Given the description of an element on the screen output the (x, y) to click on. 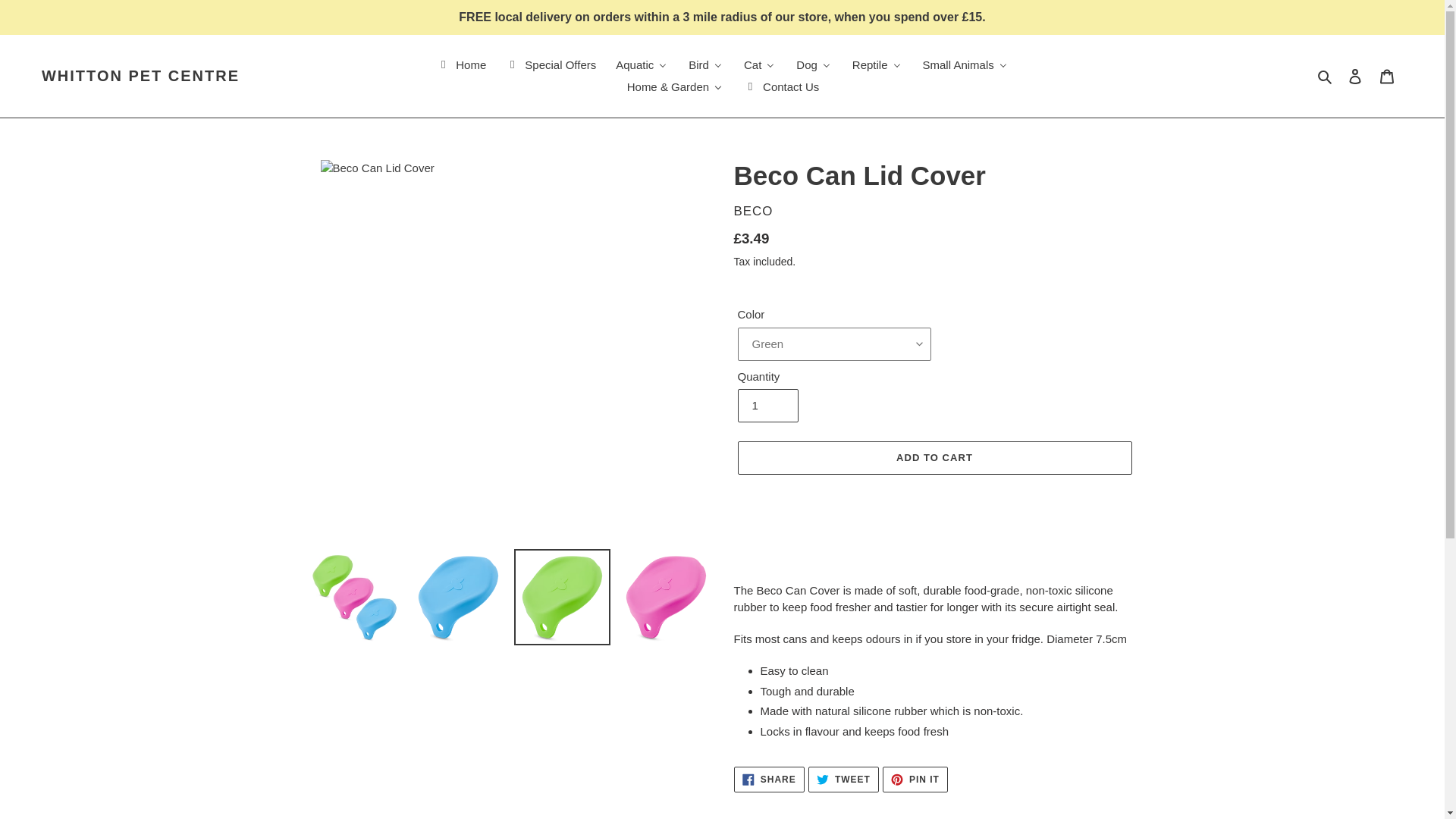
Home (460, 65)
WHITTON PET CENTRE (141, 75)
Bird (705, 65)
Aquatic (641, 65)
Special Offers (550, 65)
1 (766, 405)
